Given the description of an element on the screen output the (x, y) to click on. 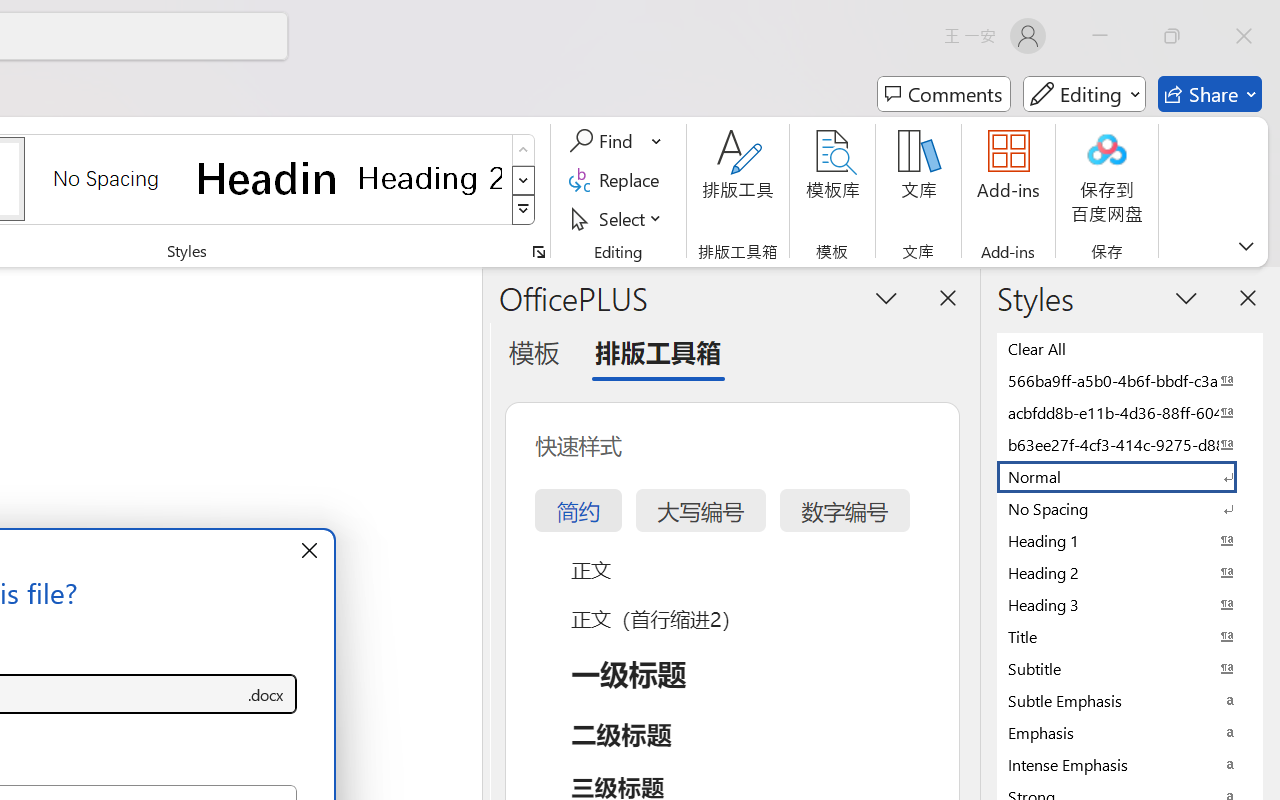
Class: NetUIImage (523, 210)
Styles... (538, 252)
b63ee27f-4cf3-414c-9275-d88e3f90795e (1130, 444)
Save as type (265, 694)
Styles (523, 209)
Select (618, 218)
Mode (1083, 94)
Subtitle (1130, 668)
Replace... (617, 179)
